Given the description of an element on the screen output the (x, y) to click on. 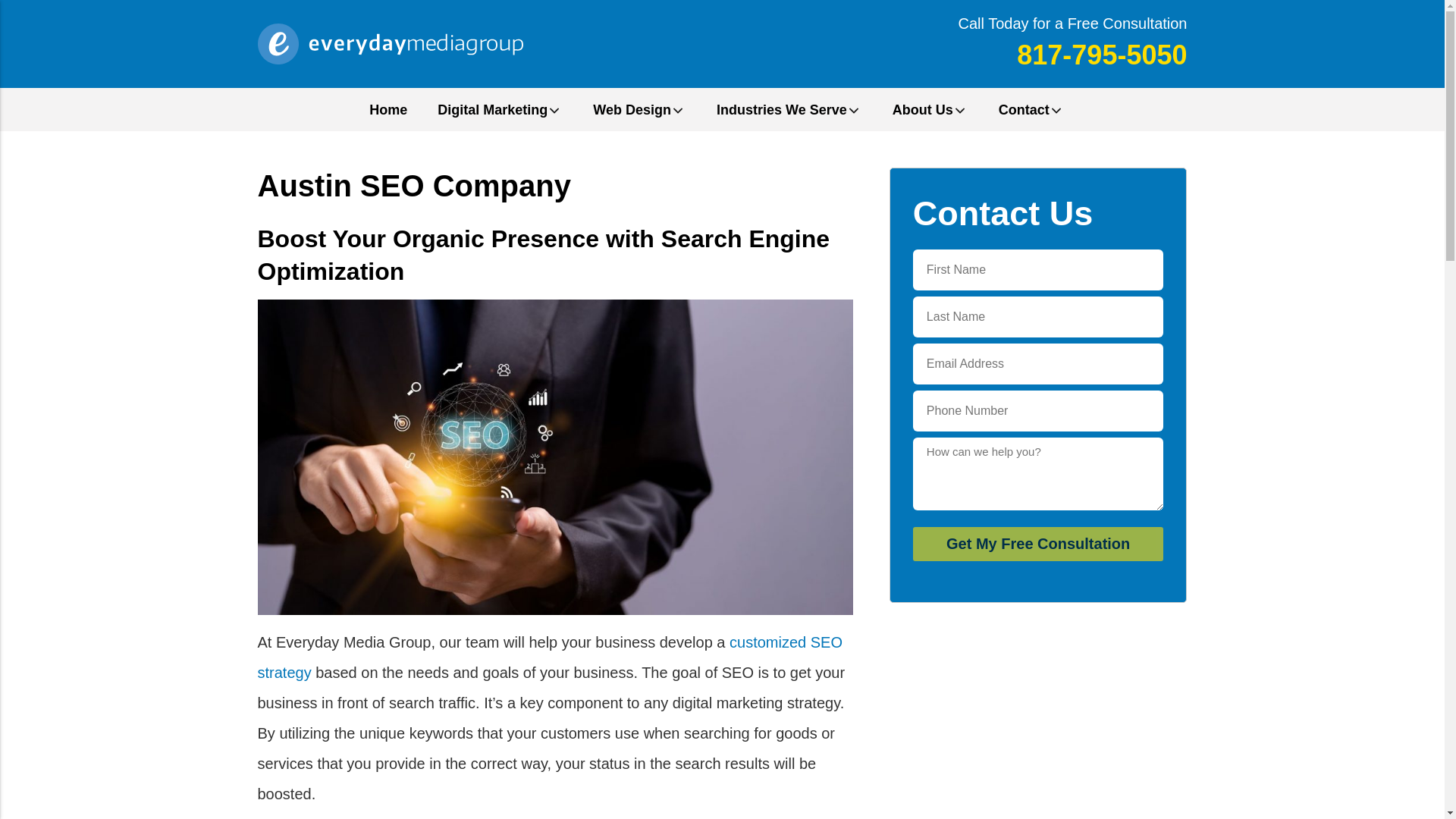
Home (388, 110)
Web Design (631, 110)
Get My Free Consultation (1037, 544)
817-795-5050 (1101, 55)
Digital Marketing (492, 110)
